Given the description of an element on the screen output the (x, y) to click on. 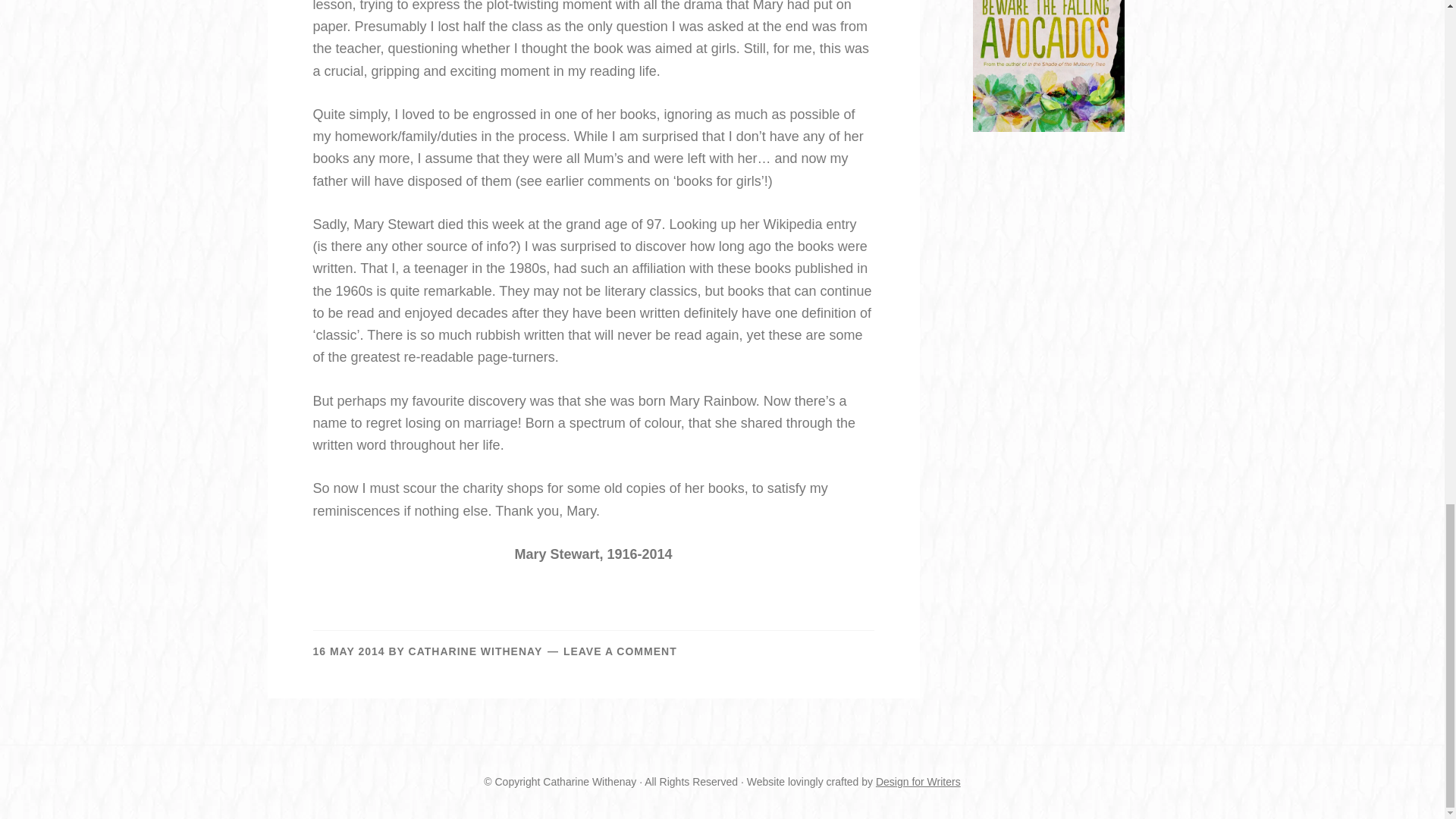
CATHARINE WITHENAY (475, 651)
Design for Writers (918, 781)
LEAVE A COMMENT (620, 651)
